Given the description of an element on the screen output the (x, y) to click on. 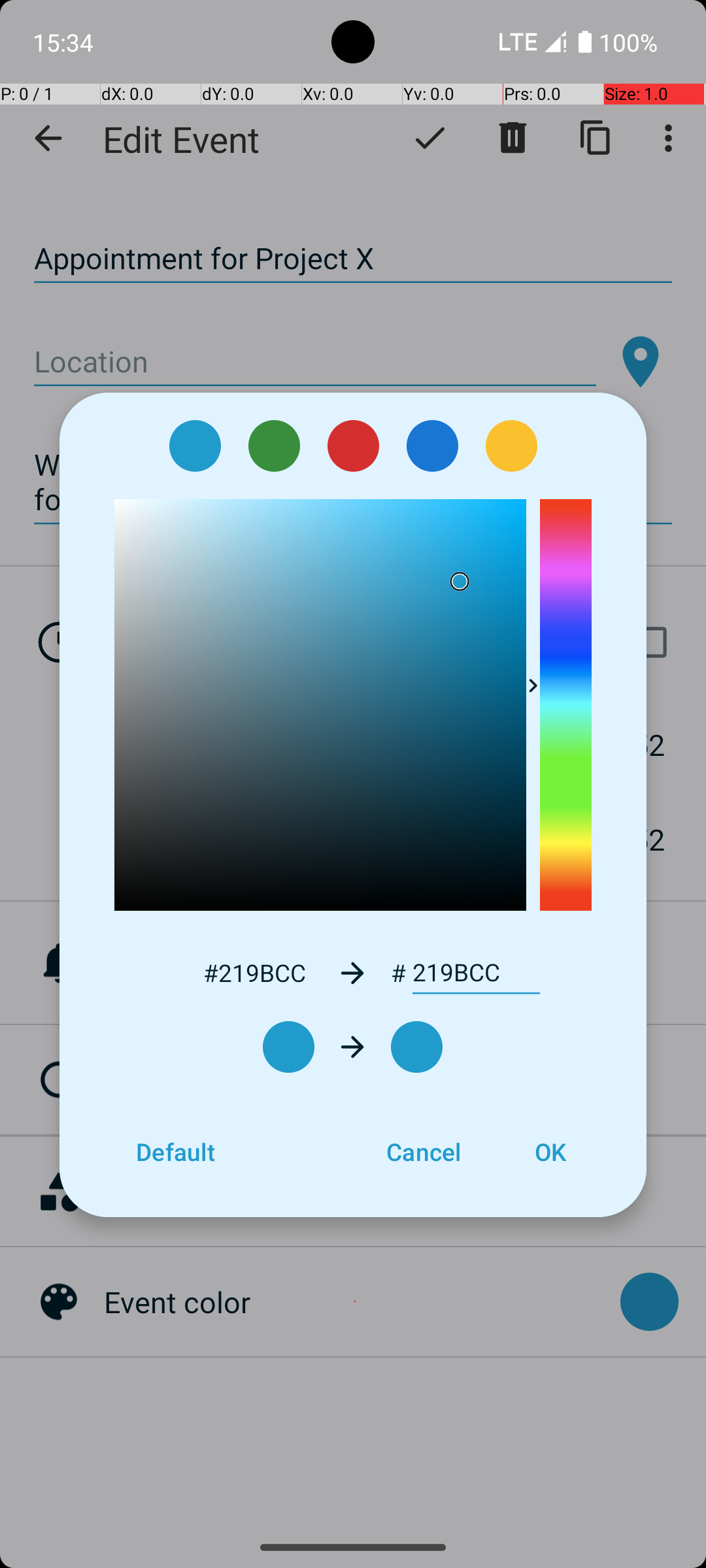
#219BCC Element type: android.widget.TextView (254, 972)
219BCC Element type: android.widget.EditText (475, 972)
